Given the description of an element on the screen output the (x, y) to click on. 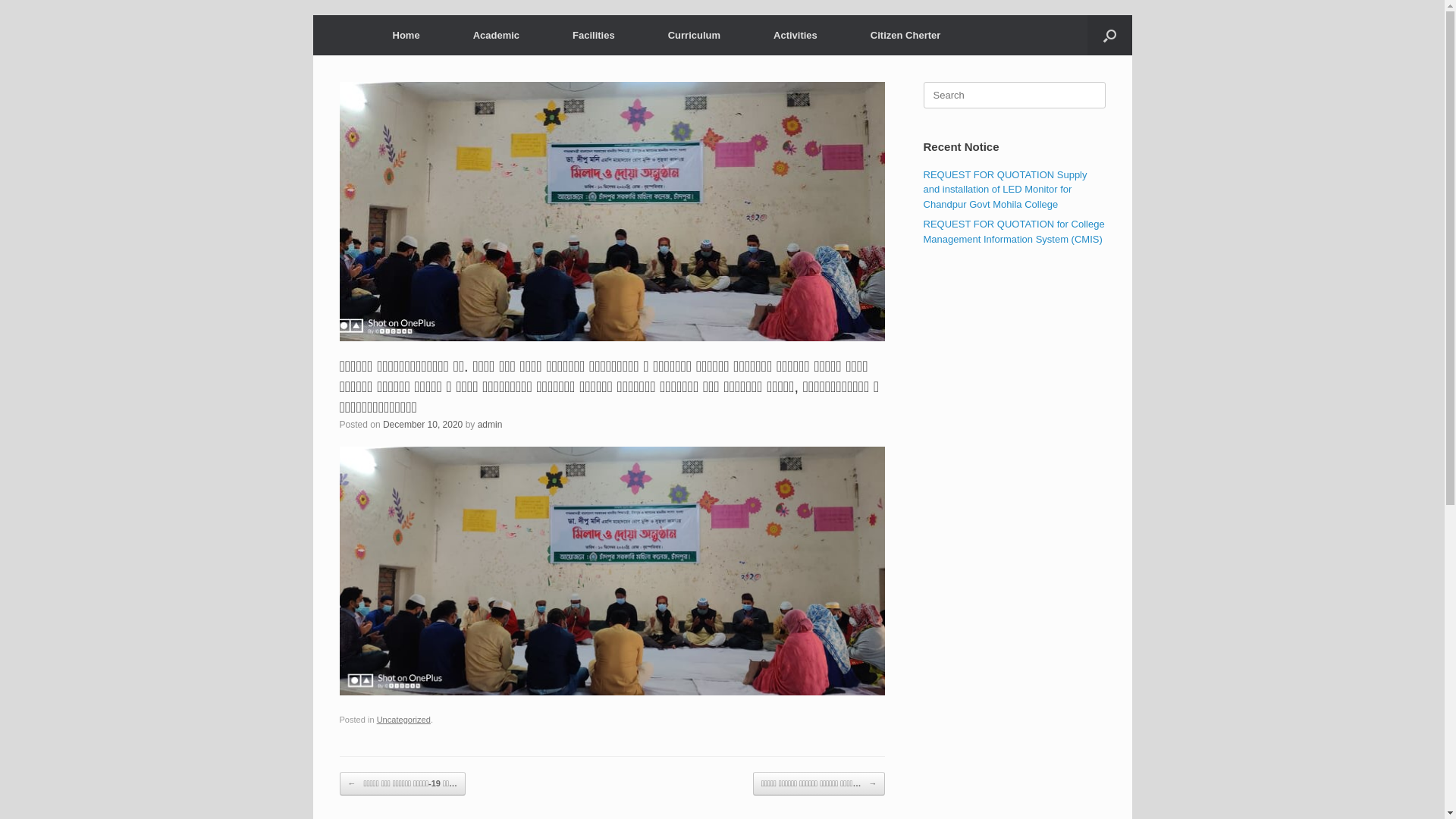
Skip to content Element type: text (312, 15)
admin Element type: text (489, 424)
Citizen Cherter Element type: text (905, 35)
Facilities Element type: text (593, 35)
Academic Element type: text (496, 35)
Curriculum Element type: text (693, 35)
Uncategorized Element type: text (403, 719)
Activities Element type: text (795, 35)
Home Element type: text (405, 35)
December 10, 2020 Element type: text (422, 424)
